Given the description of an element on the screen output the (x, y) to click on. 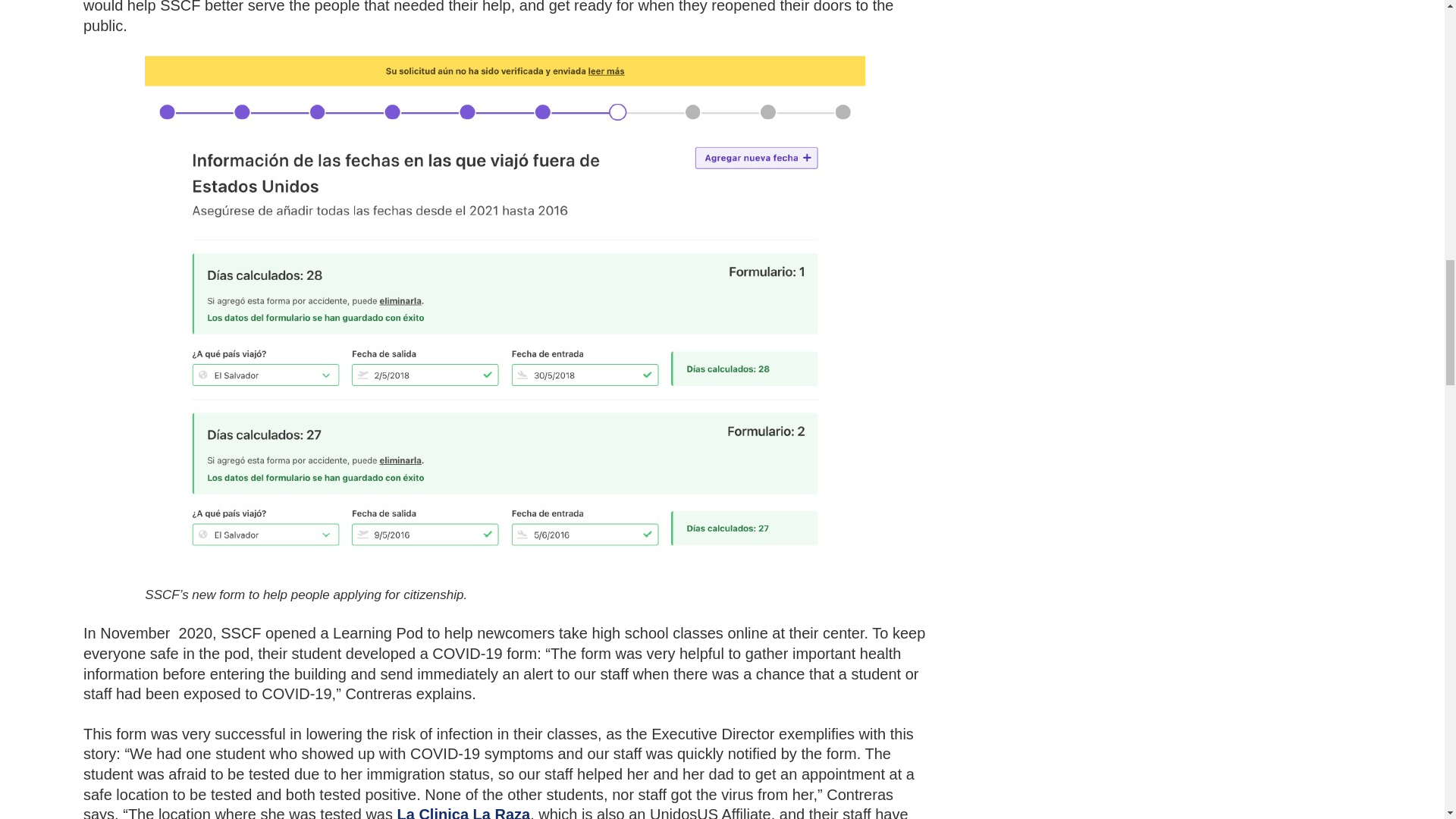
La Clinica La Raza (464, 812)
